Given the description of an element on the screen output the (x, y) to click on. 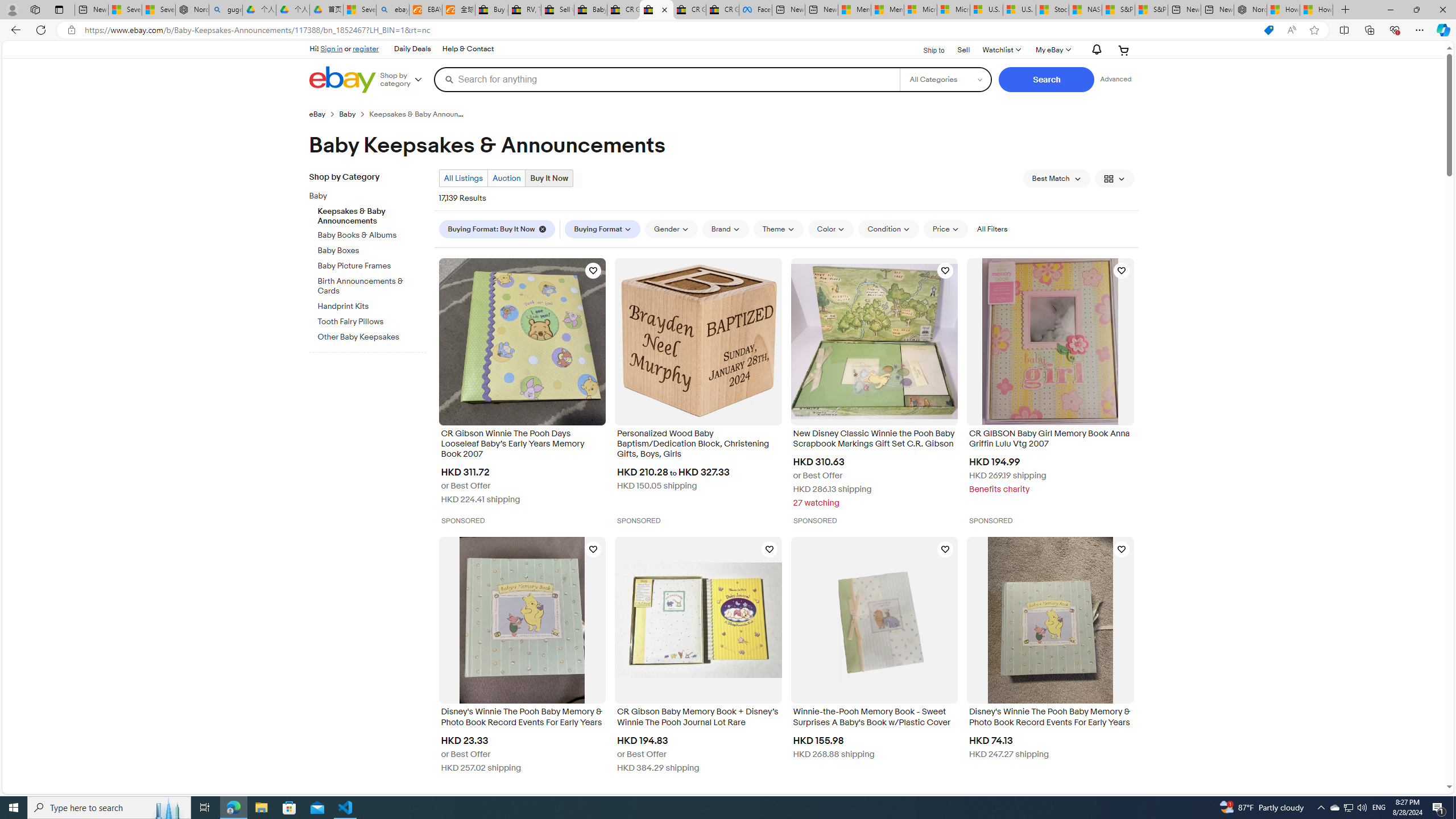
Birth Announcements & Cards (371, 283)
